Given the description of an element on the screen output the (x, y) to click on. 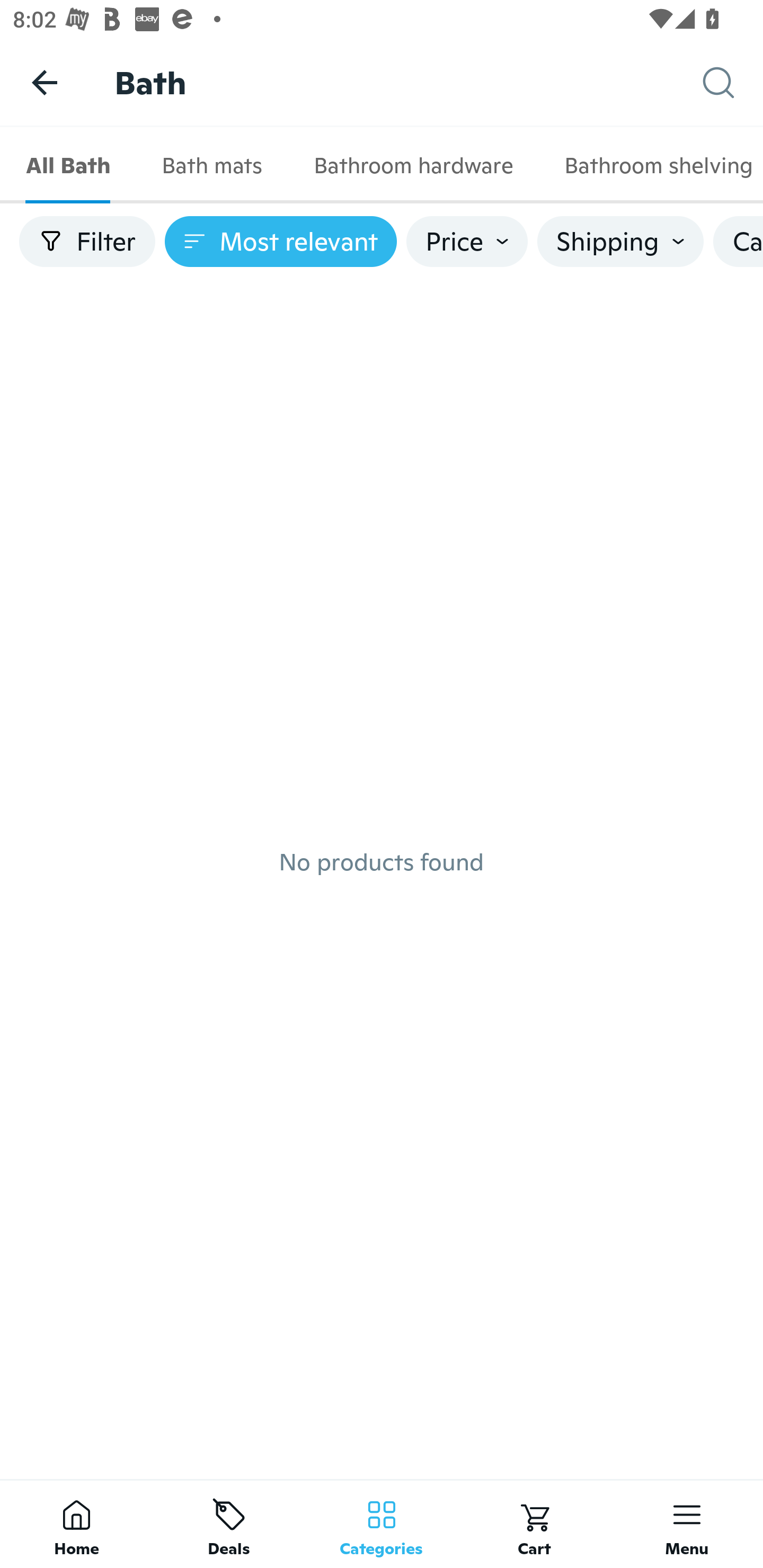
Navigate up (44, 82)
Search (732, 82)
All Bath (67, 165)
Bath mats (211, 165)
Bathroom hardware (412, 165)
Bathroom shelving (650, 165)
Filter (86, 241)
Most relevant (280, 241)
Price (466, 241)
Shipping (620, 241)
Home (76, 1523)
Deals (228, 1523)
Categories (381, 1523)
Cart (533, 1523)
Menu (686, 1523)
